Given the description of an element on the screen output the (x, y) to click on. 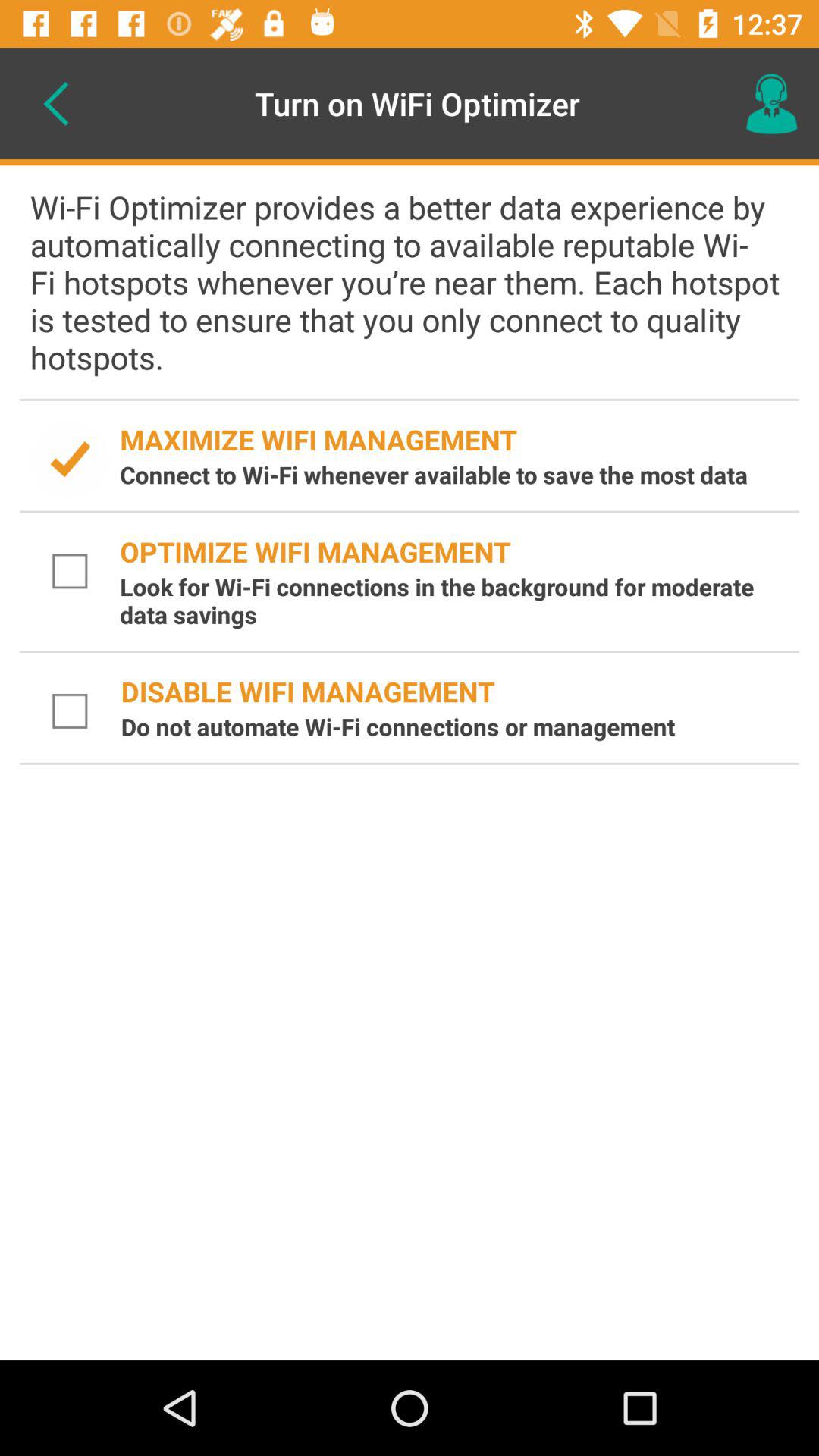
open item next to the turn on wifi icon (55, 103)
